Given the description of an element on the screen output the (x, y) to click on. 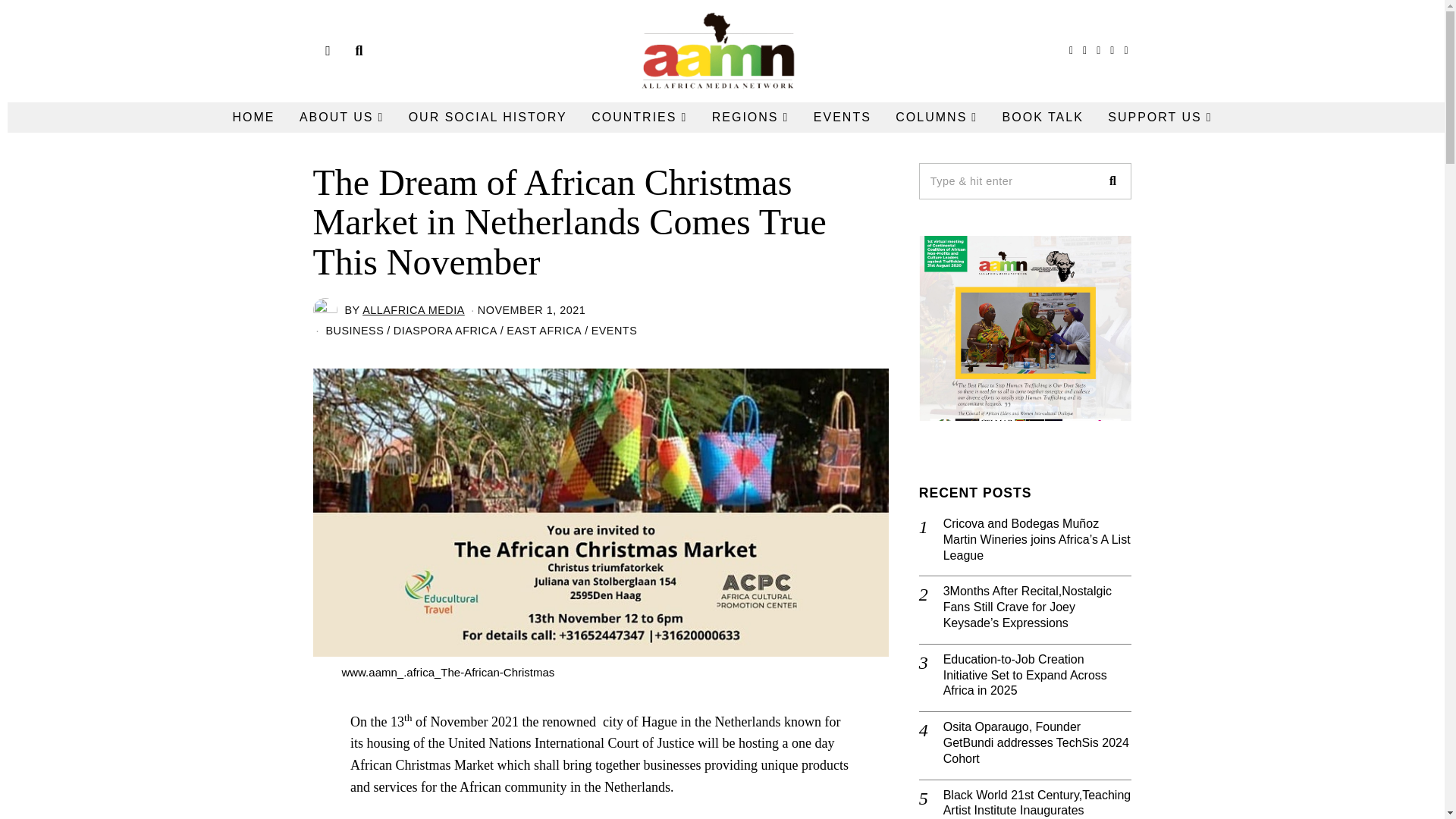
HOME (253, 116)
EVENTS (842, 116)
Go (1112, 180)
COLUMNS (936, 116)
COUNTRIES (638, 116)
OUR SOCIAL HISTORY (487, 116)
REGIONS (750, 116)
ABOUT US (341, 116)
